Given the description of an element on the screen output the (x, y) to click on. 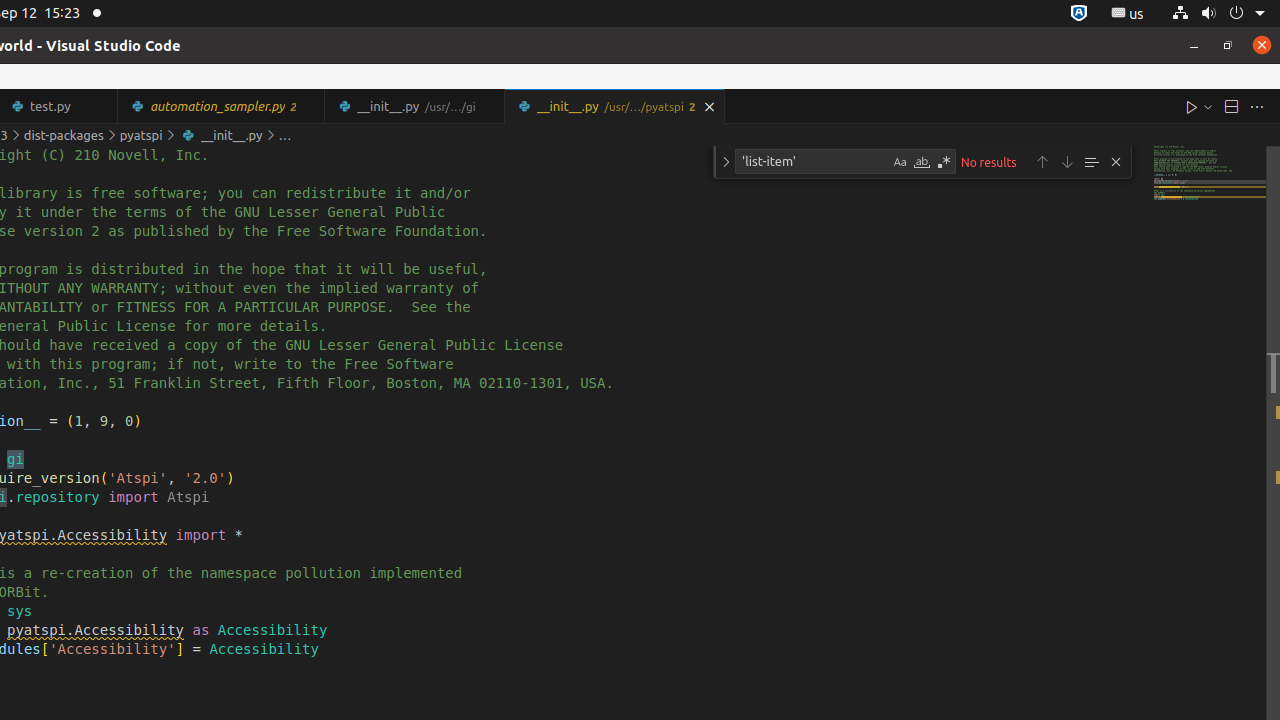
Close (Escape) Element type: push-button (1116, 162)
Run or Debug... Element type: push-button (1208, 106)
Close (Ctrl+W) Element type: push-button (709, 106)
More Actions... Element type: push-button (1257, 106)
automation_sampler.py, preview Element type: page-tab (222, 106)
